Given the description of an element on the screen output the (x, y) to click on. 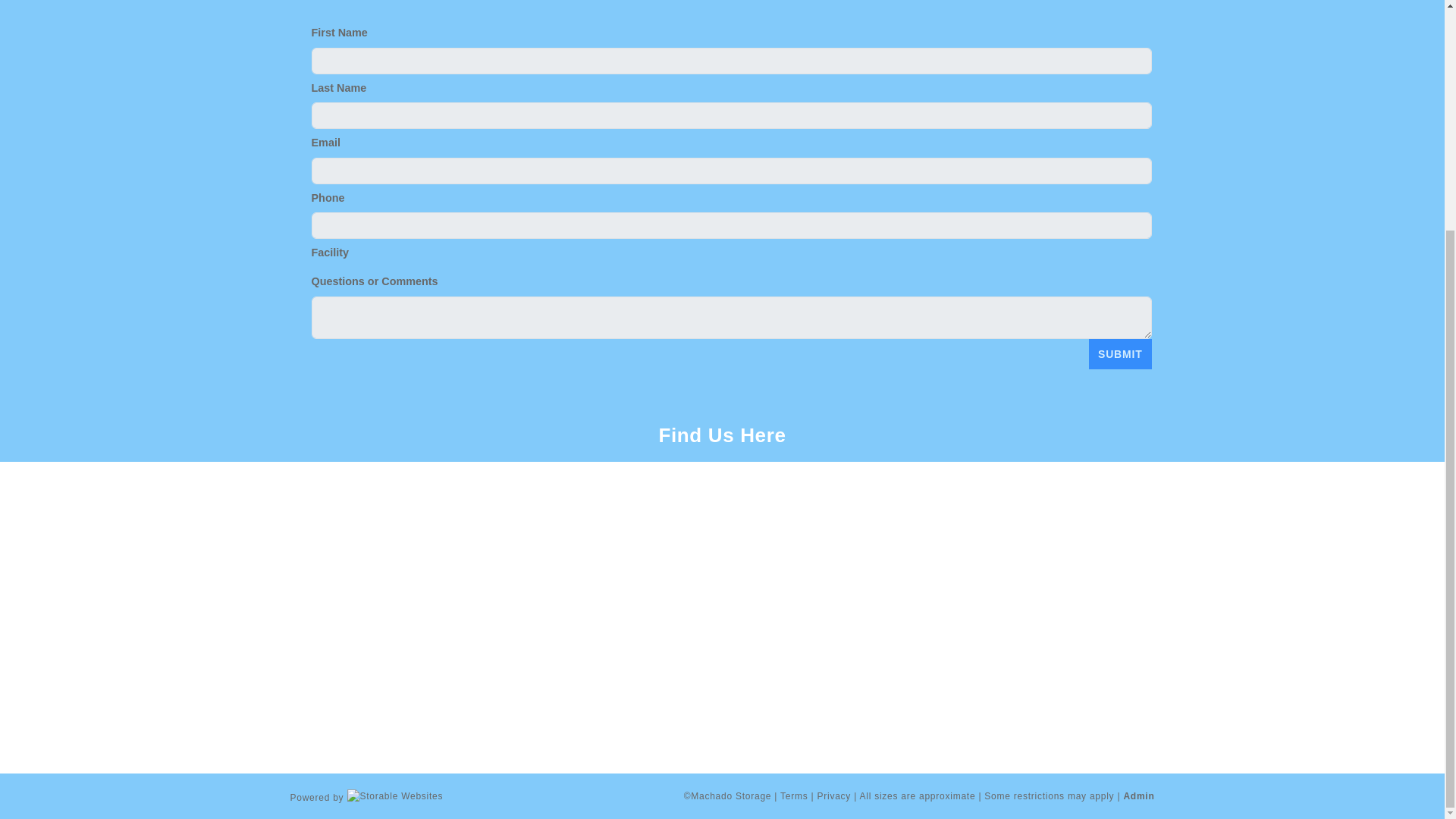
SUBMIT (1120, 354)
Terms (794, 796)
Admin (1138, 796)
Privacy (833, 796)
Powered by (365, 795)
Find Us Here (722, 435)
